Given the description of an element on the screen output the (x, y) to click on. 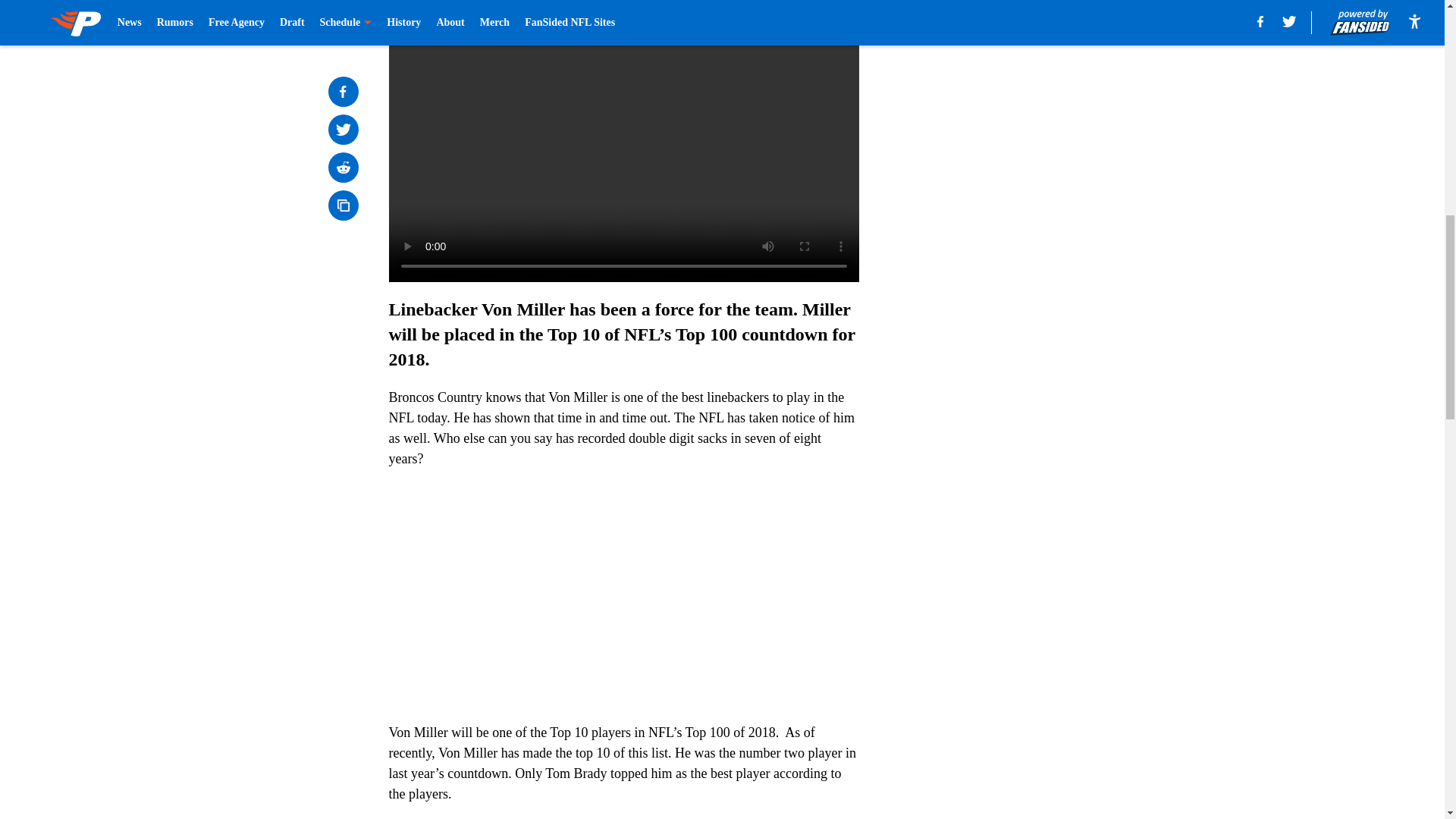
3rd party ad content (1047, 113)
3rd party ad content (1047, 332)
